Given the description of an element on the screen output the (x, y) to click on. 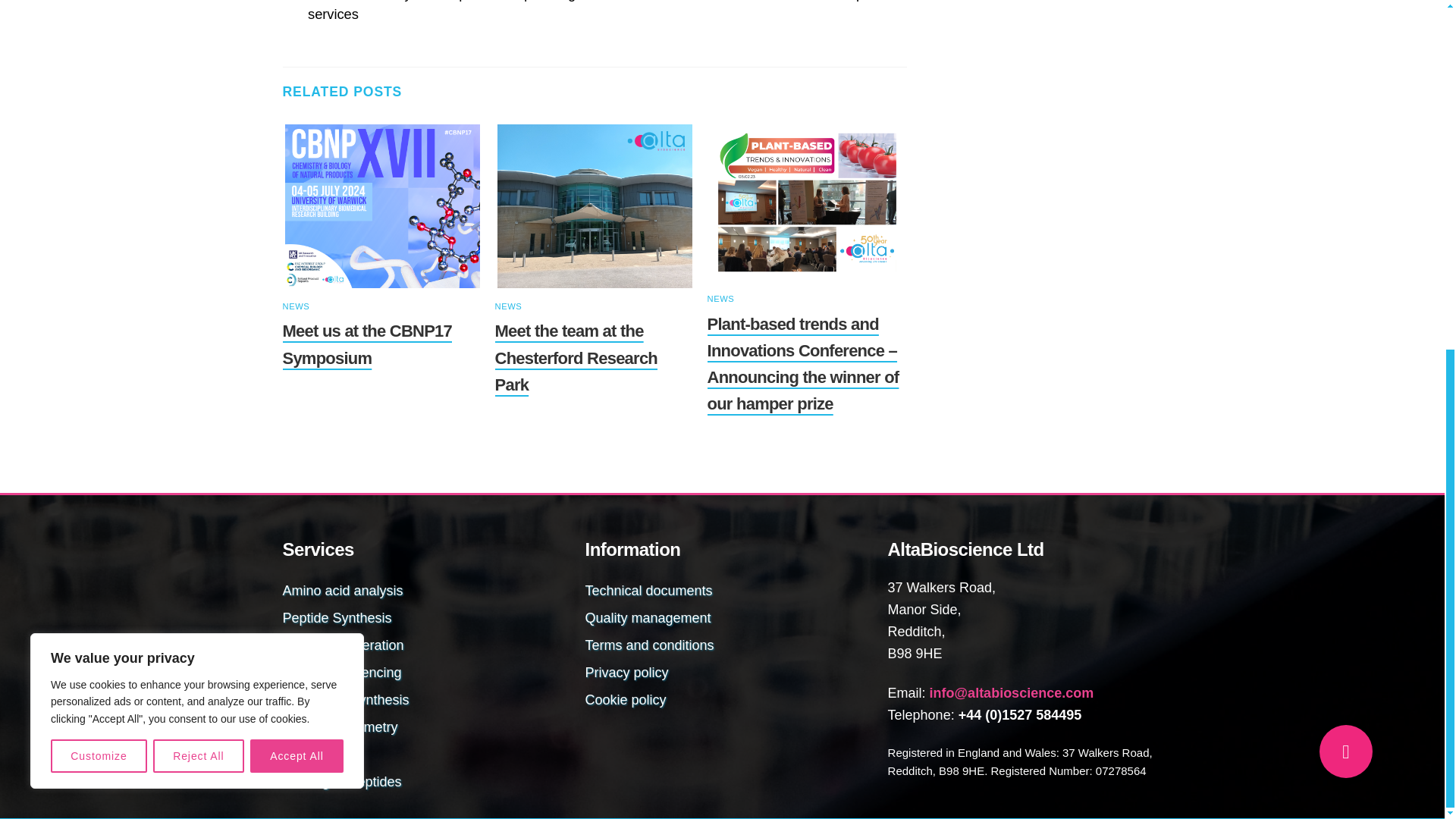
Reject All (198, 150)
Customize (98, 150)
Meet the team at the Chesterford Research Park (595, 206)
Accept All (296, 150)
Meet us at the CBNP17 Symposium (381, 206)
